Given the description of an element on the screen output the (x, y) to click on. 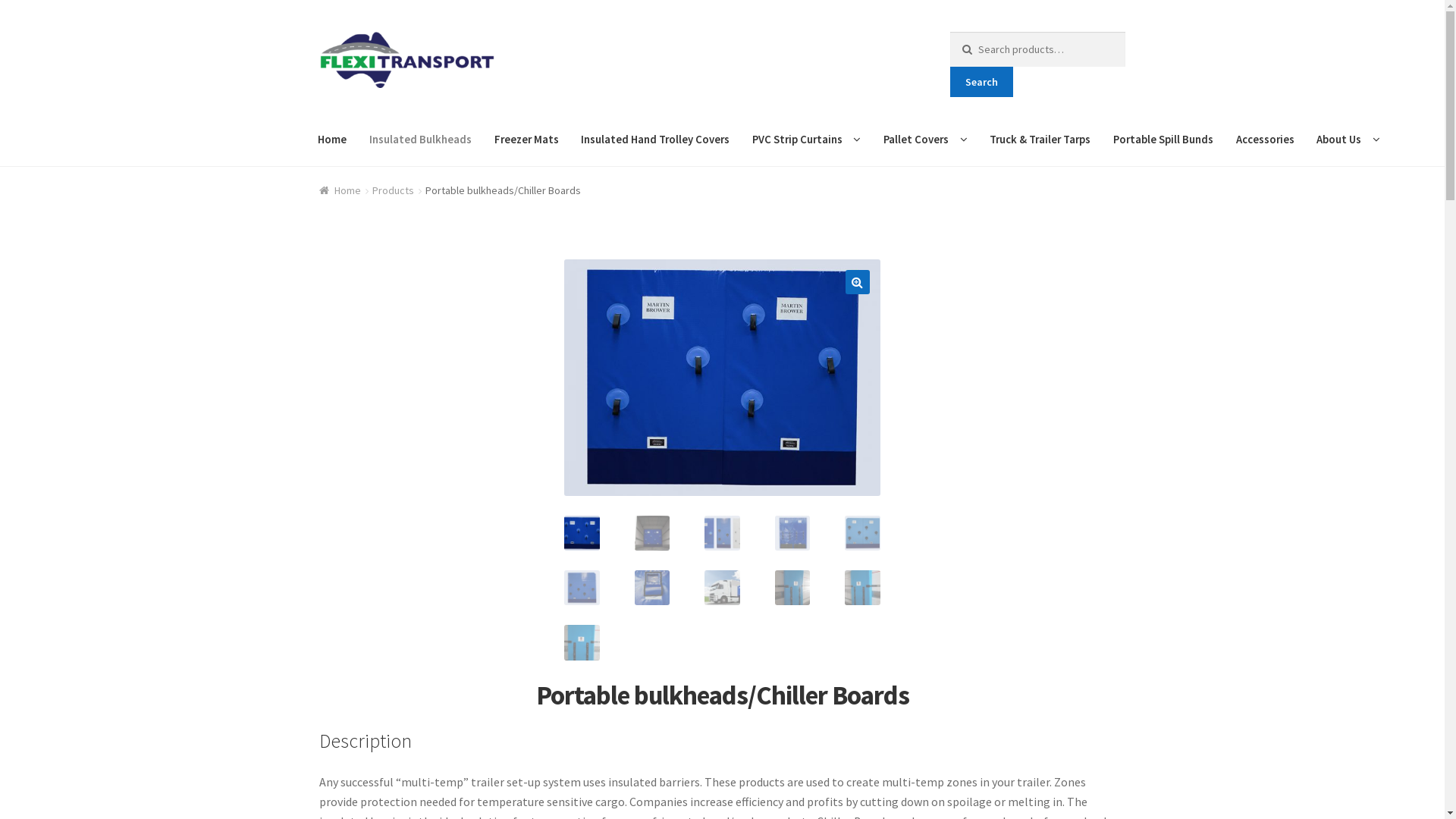
Freezer Mats Element type: text (526, 139)
Home Element type: text (340, 190)
About Us Element type: text (1347, 139)
1 Element type: hover (1037, 377)
Search Element type: text (981, 81)
Insulated Bulkheads Element type: text (420, 139)
Home Element type: text (332, 139)
Pallet Covers Element type: text (925, 139)
Portable Spill Bunds Element type: text (1162, 139)
Products Element type: text (393, 190)
PVC Strip Curtains Element type: text (806, 139)
3 Element type: hover (721, 377)
Skip to navigation Element type: text (318, 31)
Insulated Hand Trolley Covers Element type: text (654, 139)
Truck & Trailer Tarps Element type: text (1040, 139)
Accessories Element type: text (1264, 139)
